Given the description of an element on the screen output the (x, y) to click on. 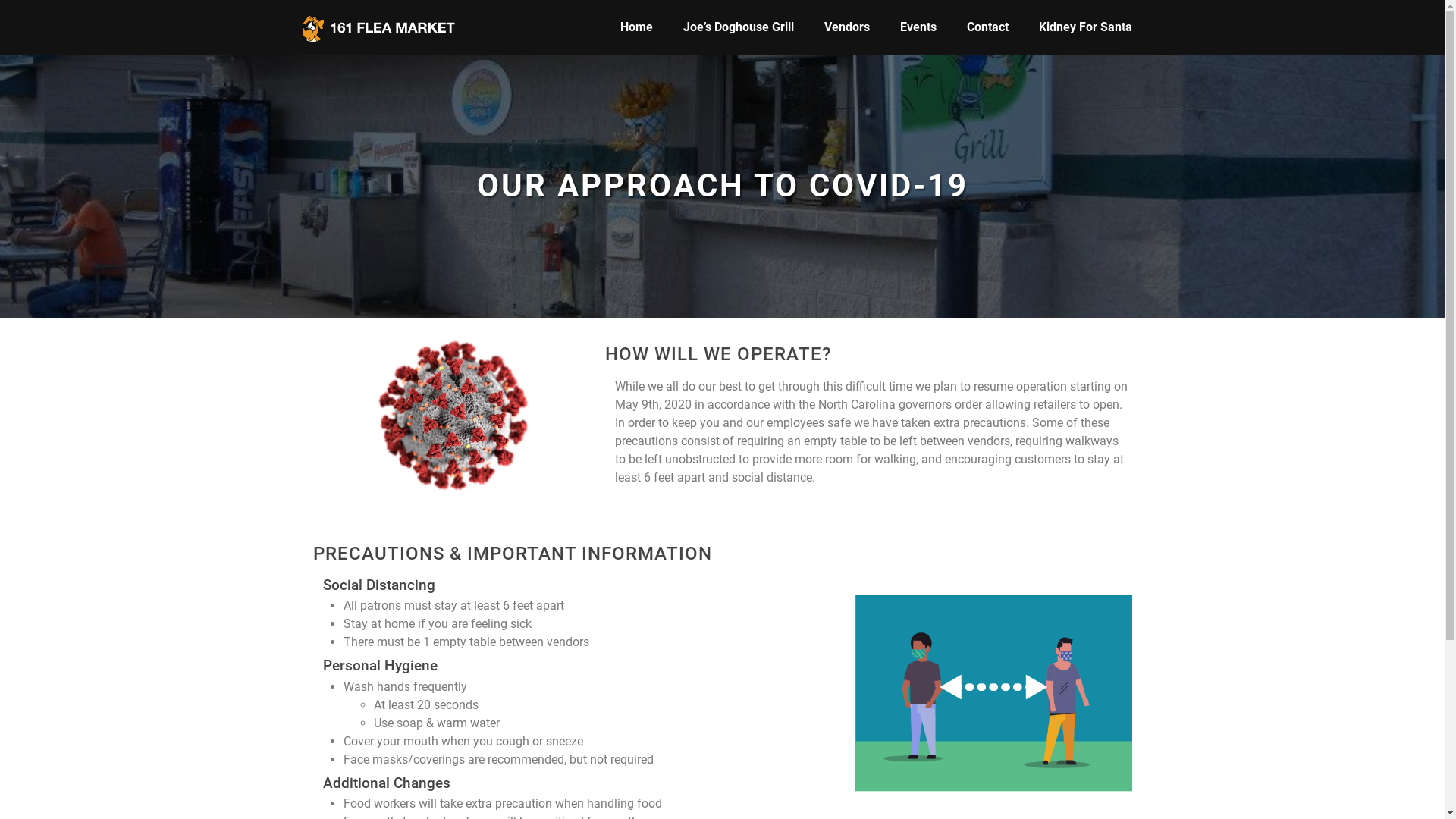
Vendors Element type: text (846, 27)
Home Element type: text (636, 27)
Kidney For Santa Element type: text (1085, 27)
Contact Element type: text (986, 27)
Events Element type: text (917, 27)
